Given the description of an element on the screen output the (x, y) to click on. 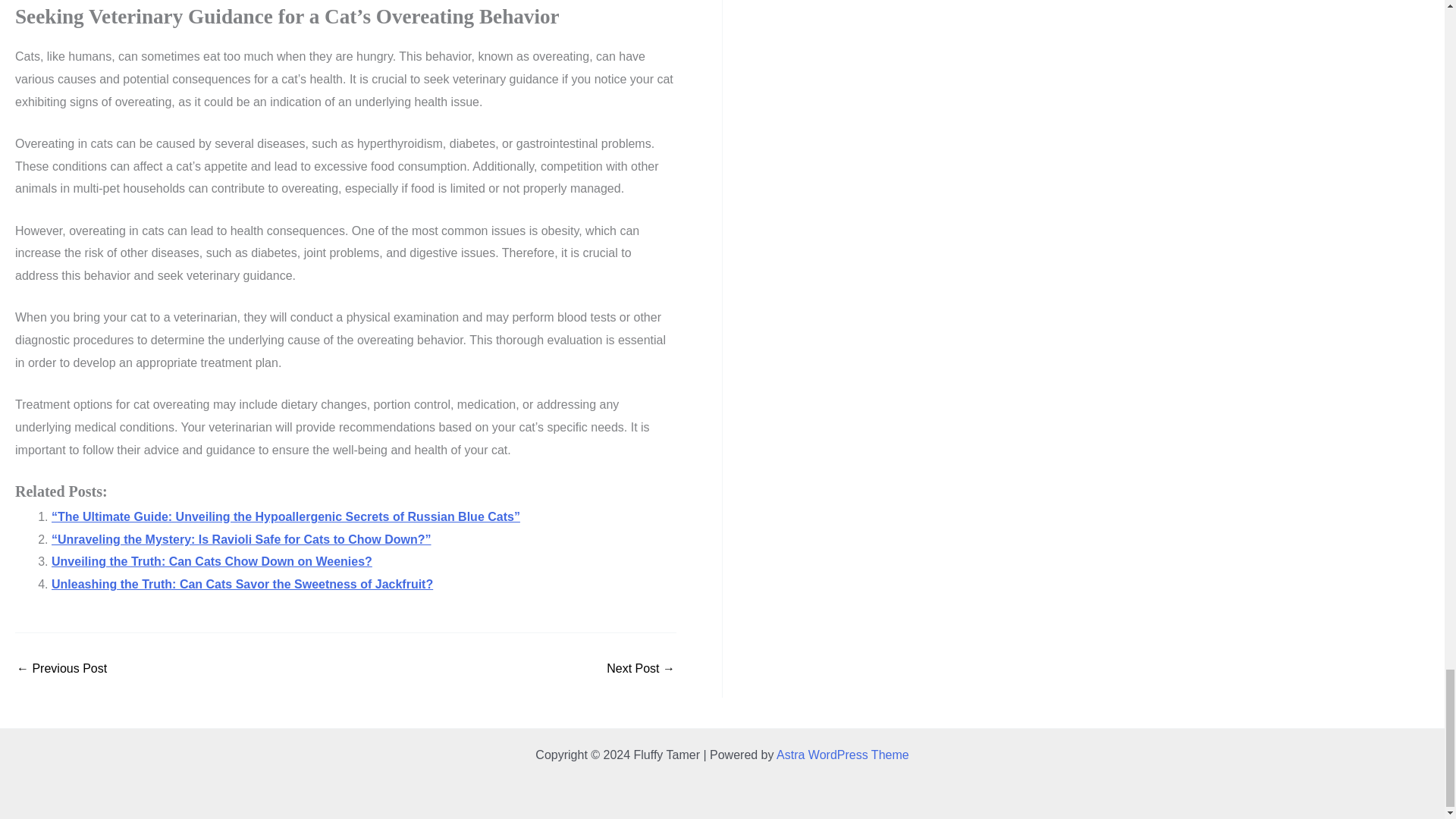
Unveiling the Truth: Can Cats Chow Down on Weenies? (211, 561)
Unveiling the Truth: Can Cats Chow Down on Weenies? (211, 561)
